Given the description of an element on the screen output the (x, y) to click on. 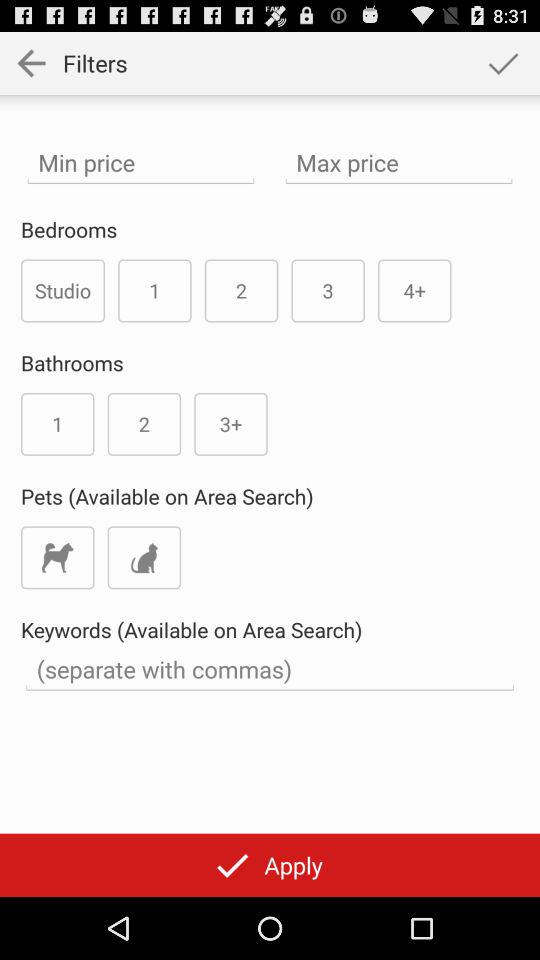
click apply button (269, 864)
